Given the description of an element on the screen output the (x, y) to click on. 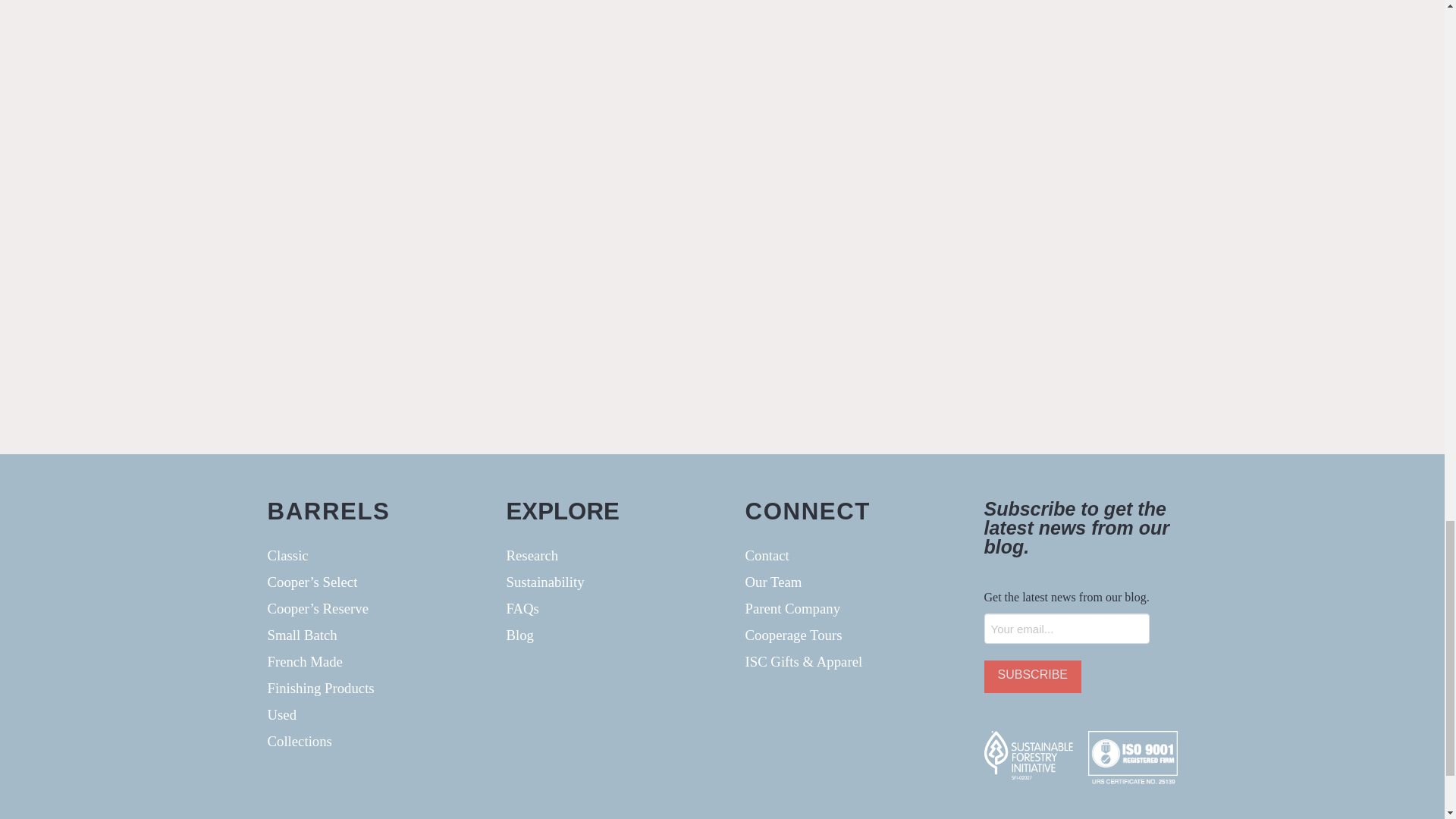
Sustainability (603, 581)
Collections (363, 741)
Research (603, 555)
Subscribe (1032, 676)
Used (363, 714)
Finishing Products (363, 687)
FAQs (603, 608)
French Made (363, 661)
Small Batch (363, 634)
Classic (363, 555)
